Given the description of an element on the screen output the (x, y) to click on. 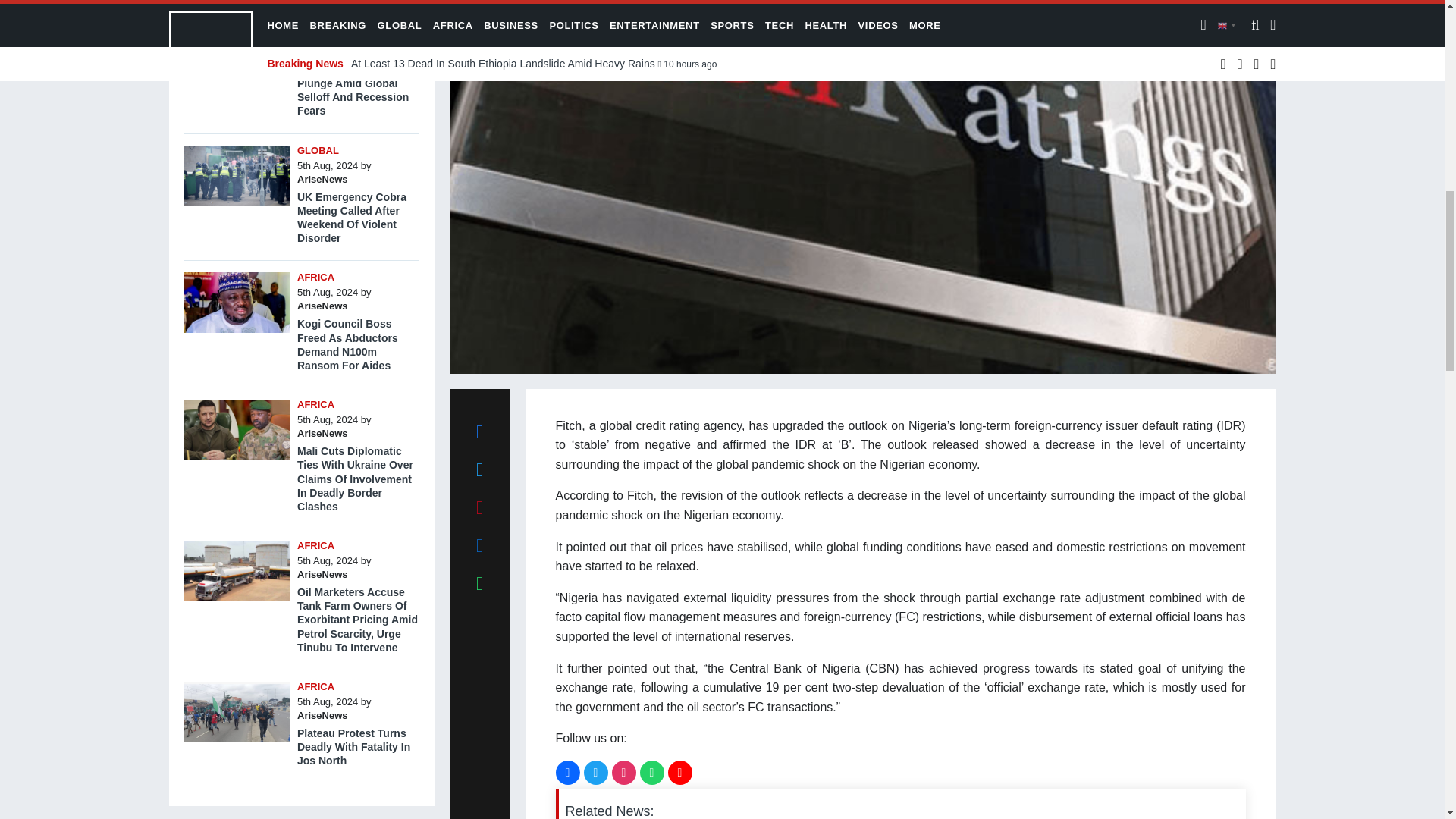
Facebook (566, 772)
AFRICA (315, 404)
AriseNews (322, 432)
BUSINESS (322, 22)
Youtube (678, 772)
GLOBAL (318, 150)
AriseNews (322, 51)
Posts by AriseNews (322, 432)
AriseNews (322, 306)
WhatsApp (651, 772)
